Given the description of an element on the screen output the (x, y) to click on. 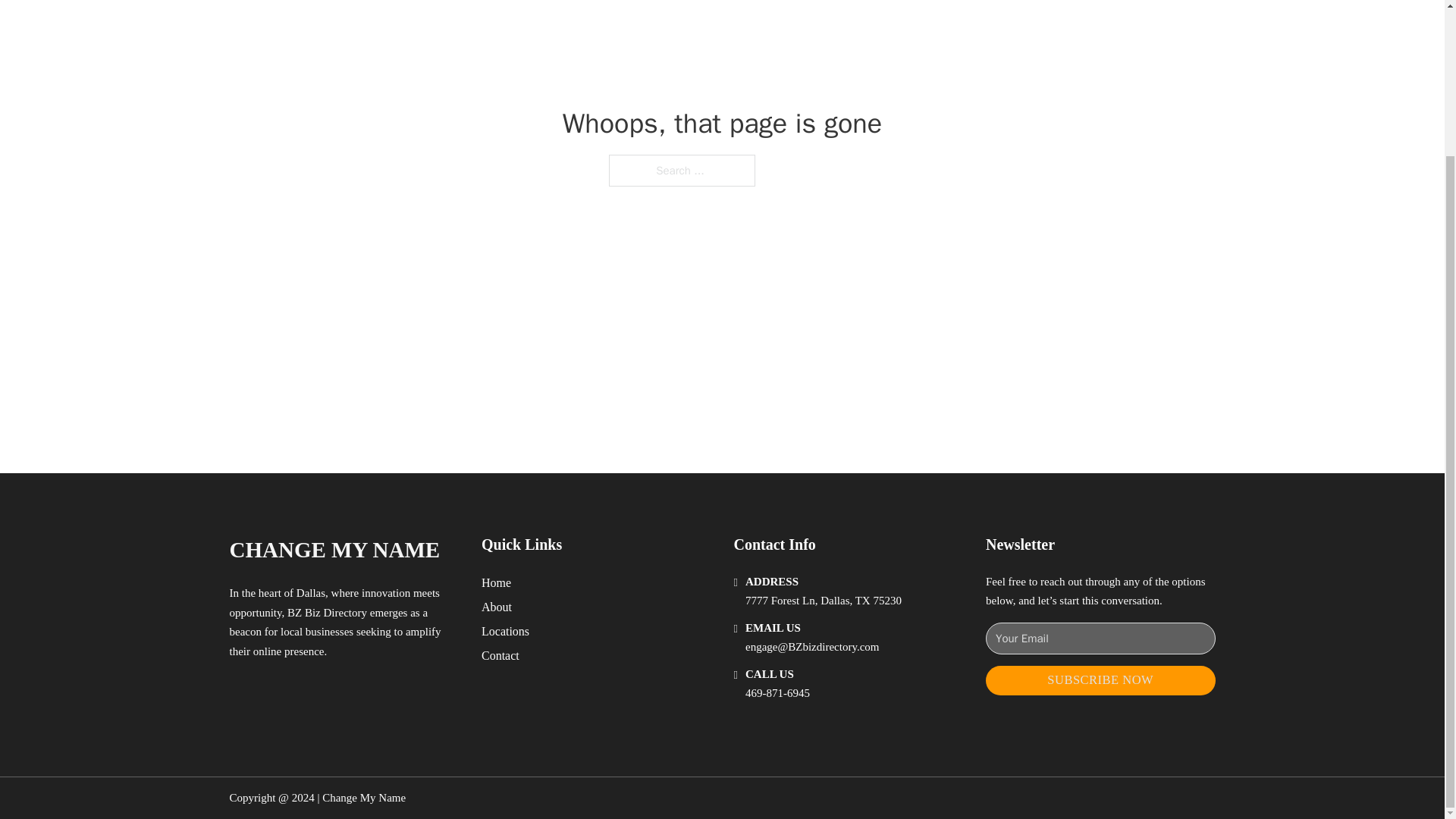
469-871-6945 (777, 693)
Contact (500, 655)
Locations (505, 630)
Home (496, 582)
CHANGE MY NAME (333, 549)
About (496, 607)
SUBSCRIBE NOW (1100, 680)
